Given the description of an element on the screen output the (x, y) to click on. 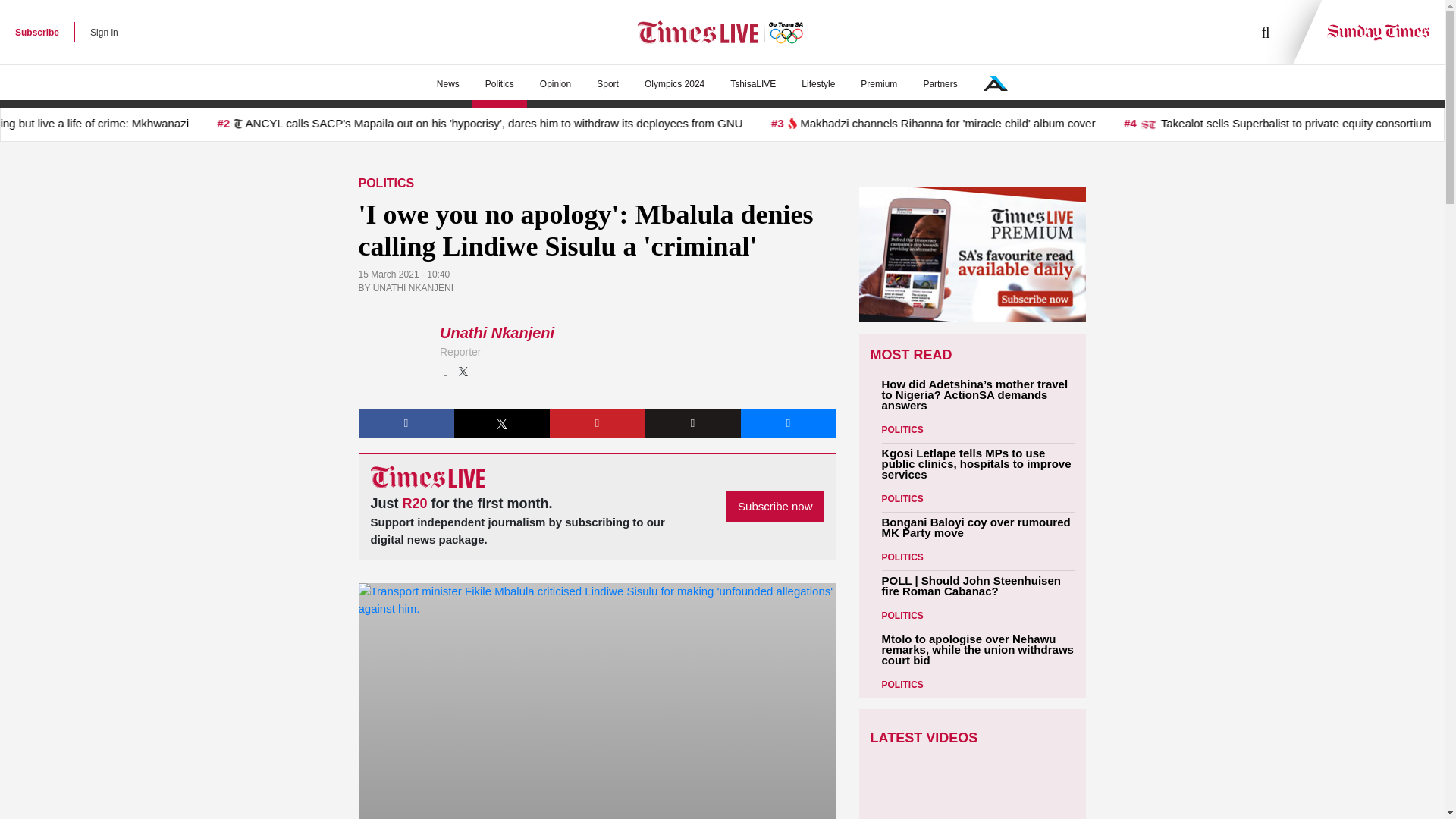
Partners (939, 84)
Our Network (995, 83)
Olympics 2024 (674, 84)
Politics (499, 84)
Sport (607, 84)
Sign in (103, 32)
News (447, 84)
TshisaLIVE (753, 84)
Subscribe (36, 32)
Lifestyle (818, 84)
